Given the description of an element on the screen output the (x, y) to click on. 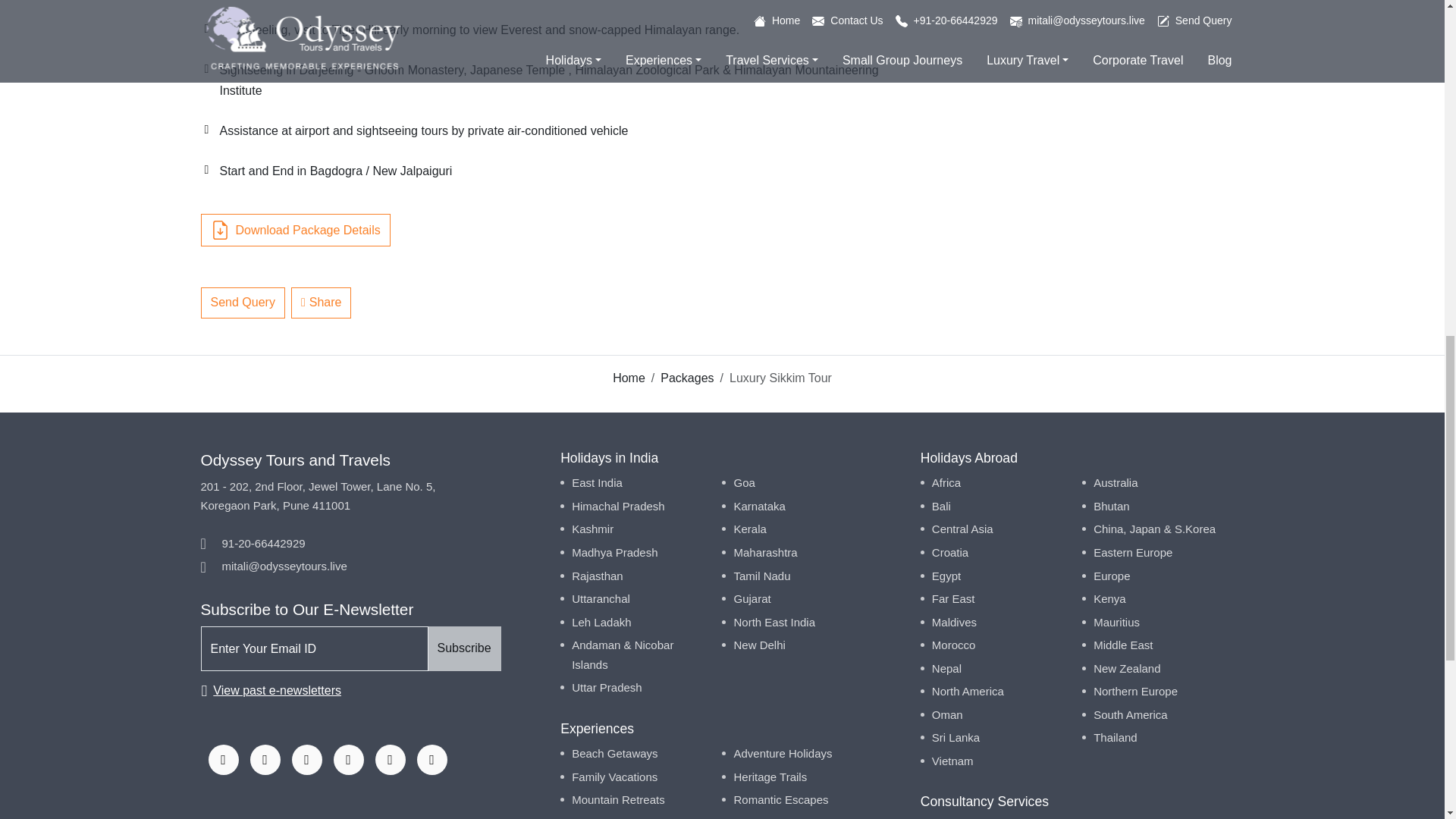
Join us on facebook (223, 759)
Send Query (241, 302)
Subscribe (464, 648)
Join us on twitter (306, 759)
Join us on instagram (265, 759)
